Given the description of an element on the screen output the (x, y) to click on. 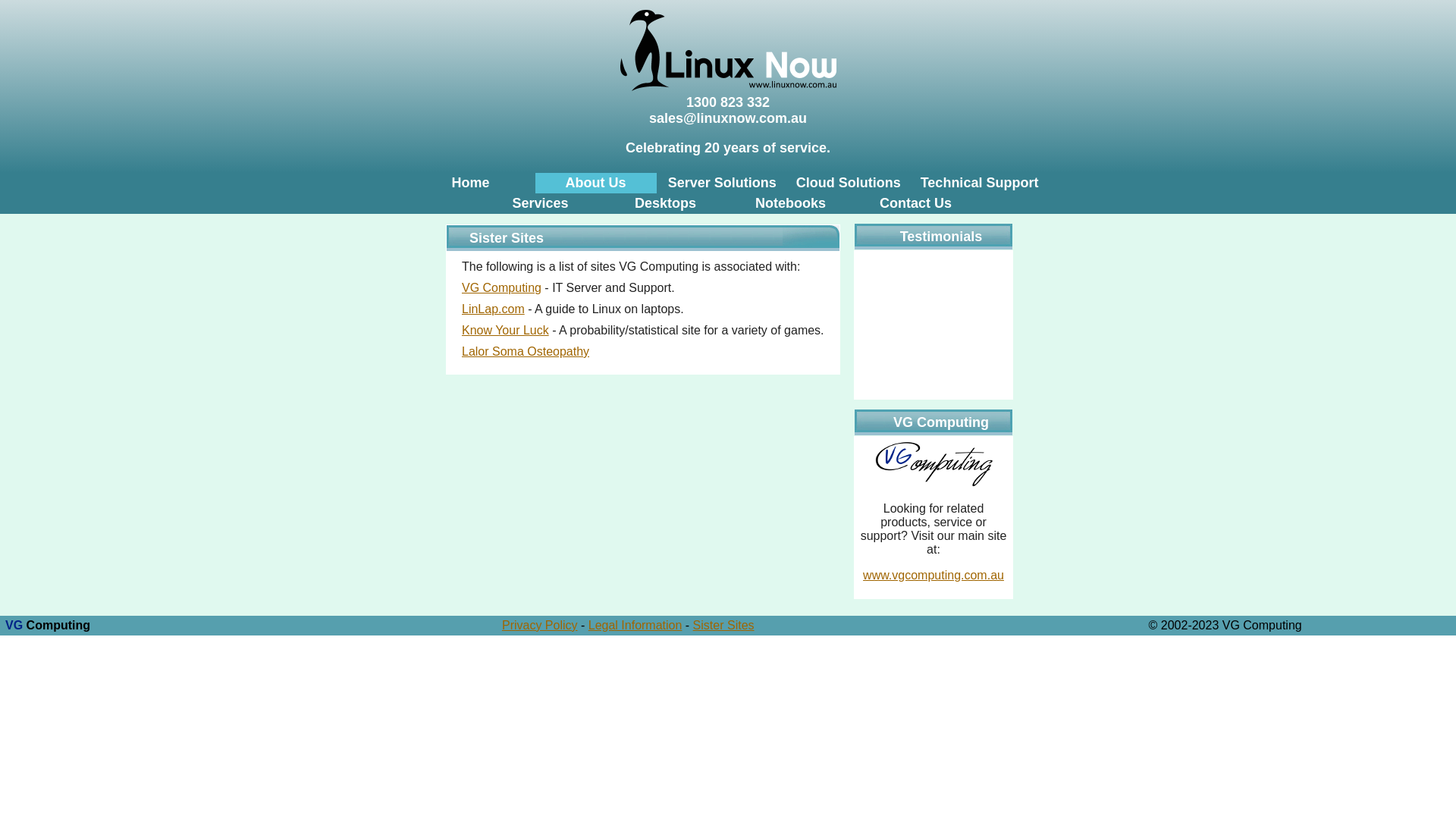
Services Element type: text (539, 202)
Server Solutions Element type: text (722, 182)
Notebooks Element type: text (790, 202)
About Us Element type: text (595, 182)
Sister Sites Element type: text (723, 624)
1300 823 332 Element type: text (727, 101)
www.vgcomputing.com.au Element type: text (933, 574)
Legal Information Element type: text (635, 624)
Privacy Policy Element type: text (539, 624)
Lalor Soma Osteopathy Element type: text (525, 351)
VG Computing Element type: text (501, 287)
Desktops Element type: text (665, 202)
LinLap.com Element type: text (492, 308)
sales@linuxnow.com.au Element type: text (727, 117)
Home Element type: text (470, 182)
Contact Us Element type: text (915, 202)
Know Your Luck Element type: text (505, 329)
Cloud Solutions Element type: text (848, 182)
Technical Support Element type: text (979, 182)
